Given the description of an element on the screen output the (x, y) to click on. 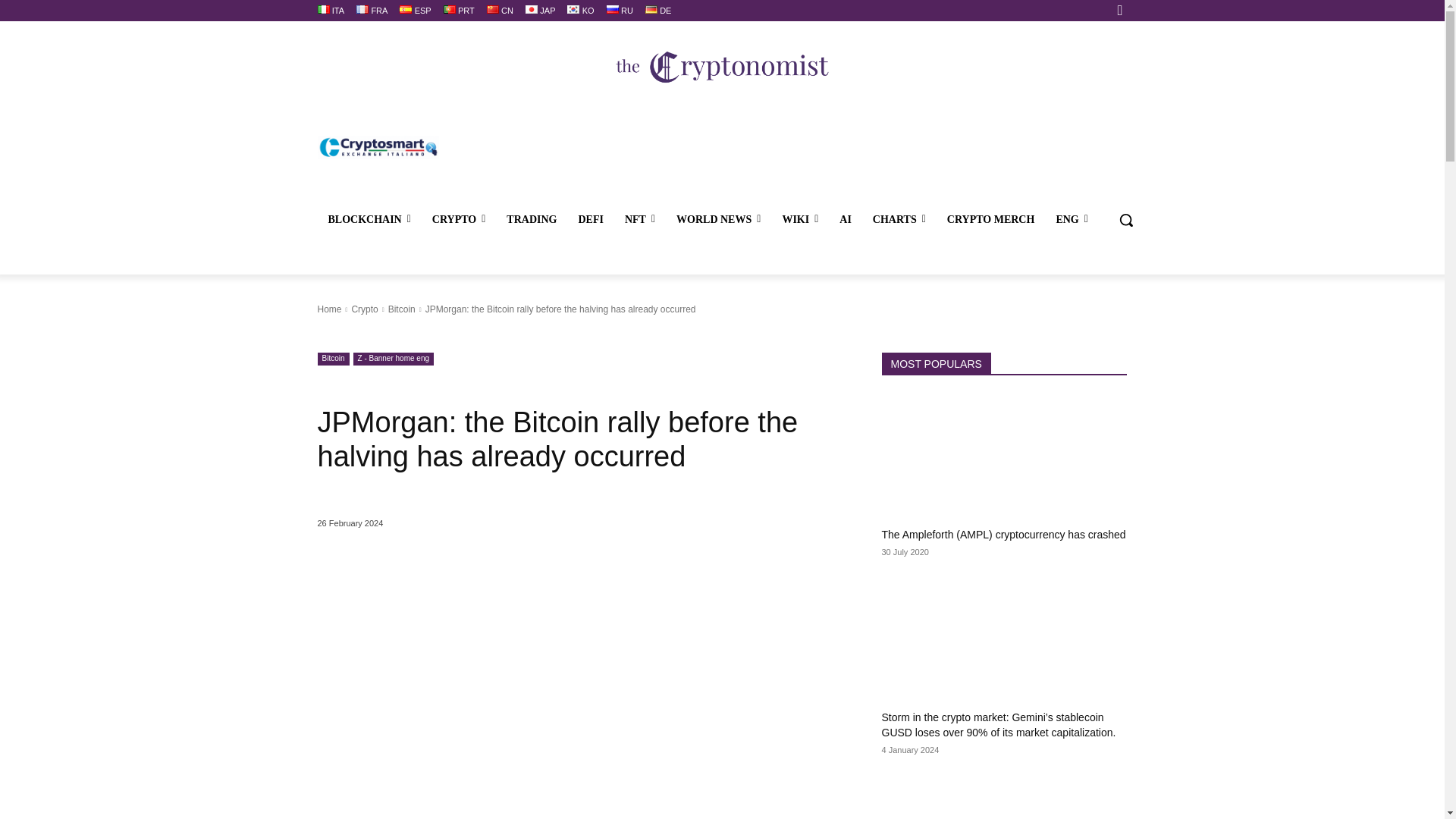
View all posts in Crypto (363, 308)
View all posts in Bitcoin (401, 308)
Jpmorgan bitcoin halving (580, 730)
